Given the description of an element on the screen output the (x, y) to click on. 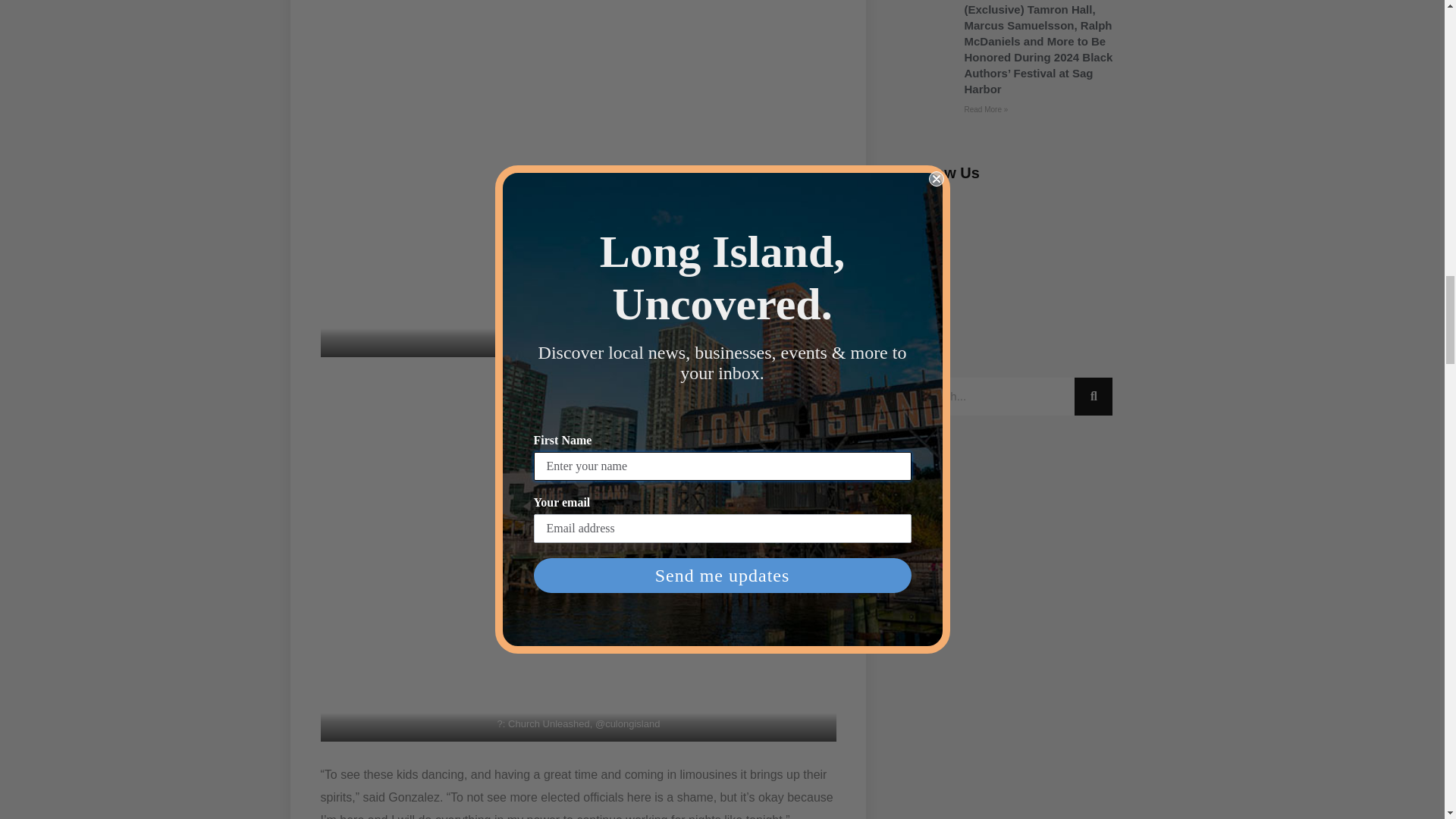
Search (990, 396)
Search (1093, 396)
